Given the description of an element on the screen output the (x, y) to click on. 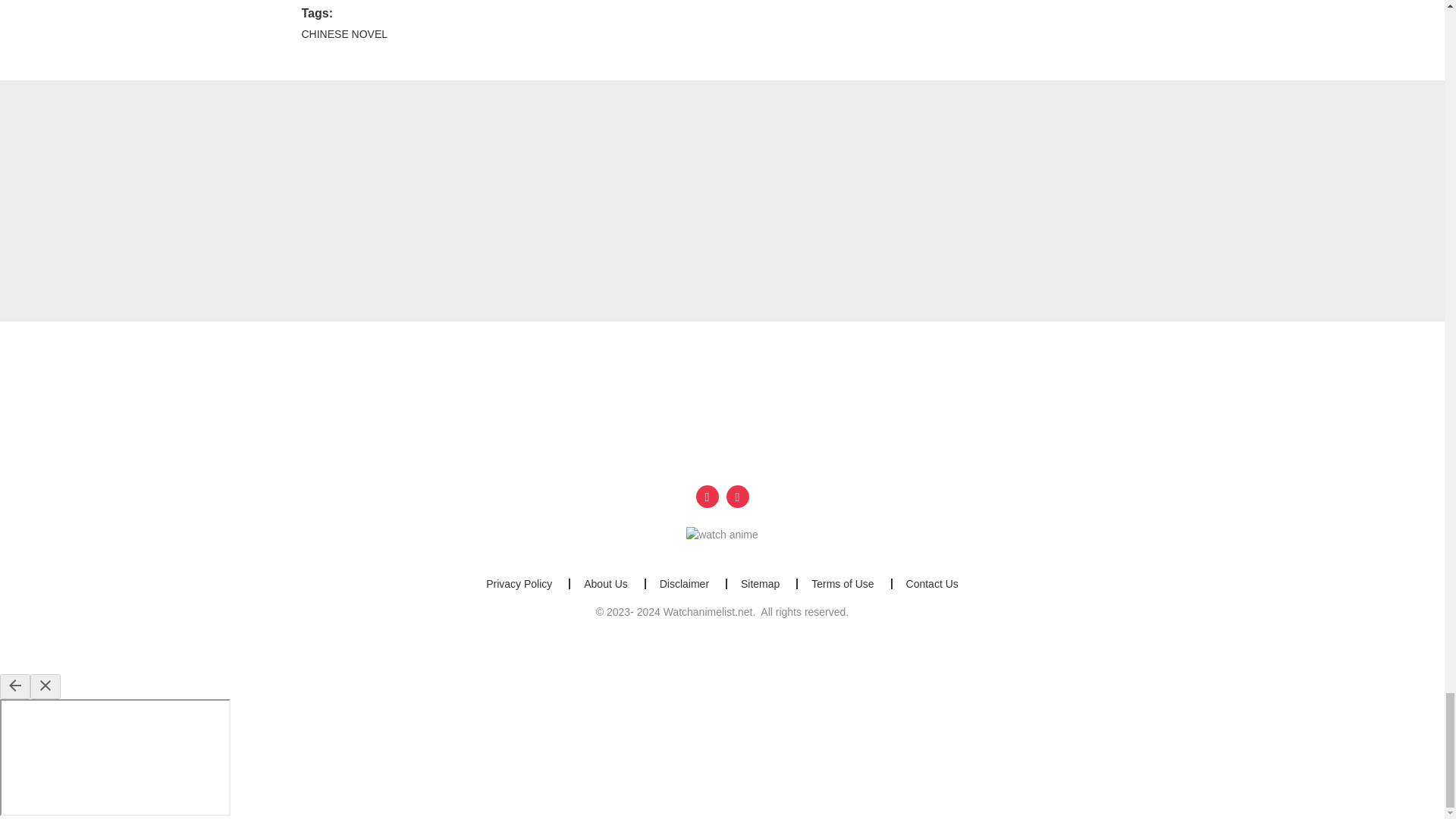
Privacy Policy (518, 583)
Contact Us (931, 583)
About Us (605, 583)
Disclaimer (684, 583)
Email (737, 496)
Facebook (707, 496)
Terms of Use (841, 583)
Sitemap (759, 583)
CHINESE NOVEL (344, 33)
